Given the description of an element on the screen output the (x, y) to click on. 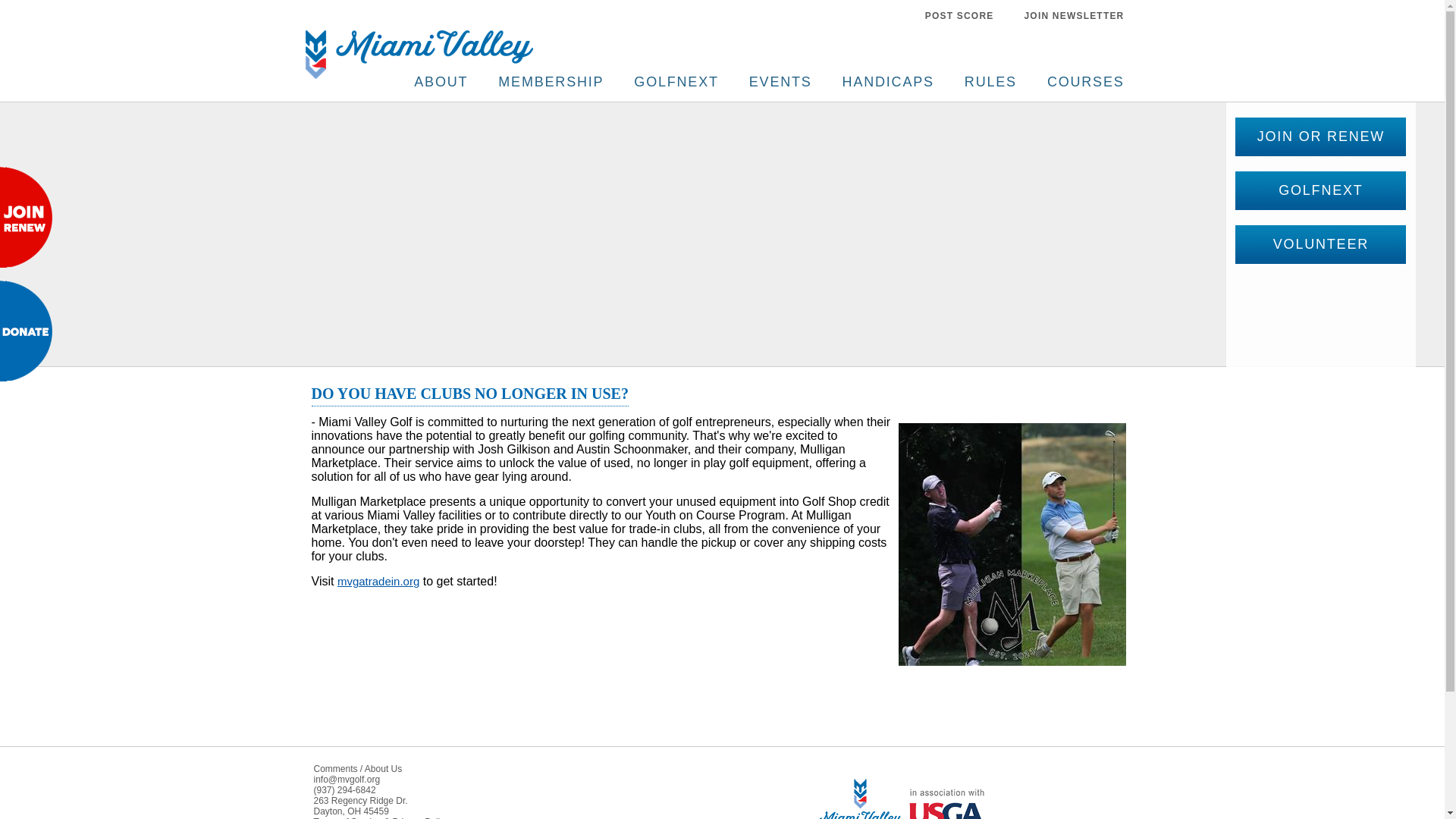
JOIN NEWSLETTER (1073, 15)
POST SCORE (959, 15)
Home (418, 74)
About (440, 82)
ABOUT (440, 82)
Post Score (959, 15)
Join Newsletter (1073, 15)
